Given the description of an element on the screen output the (x, y) to click on. 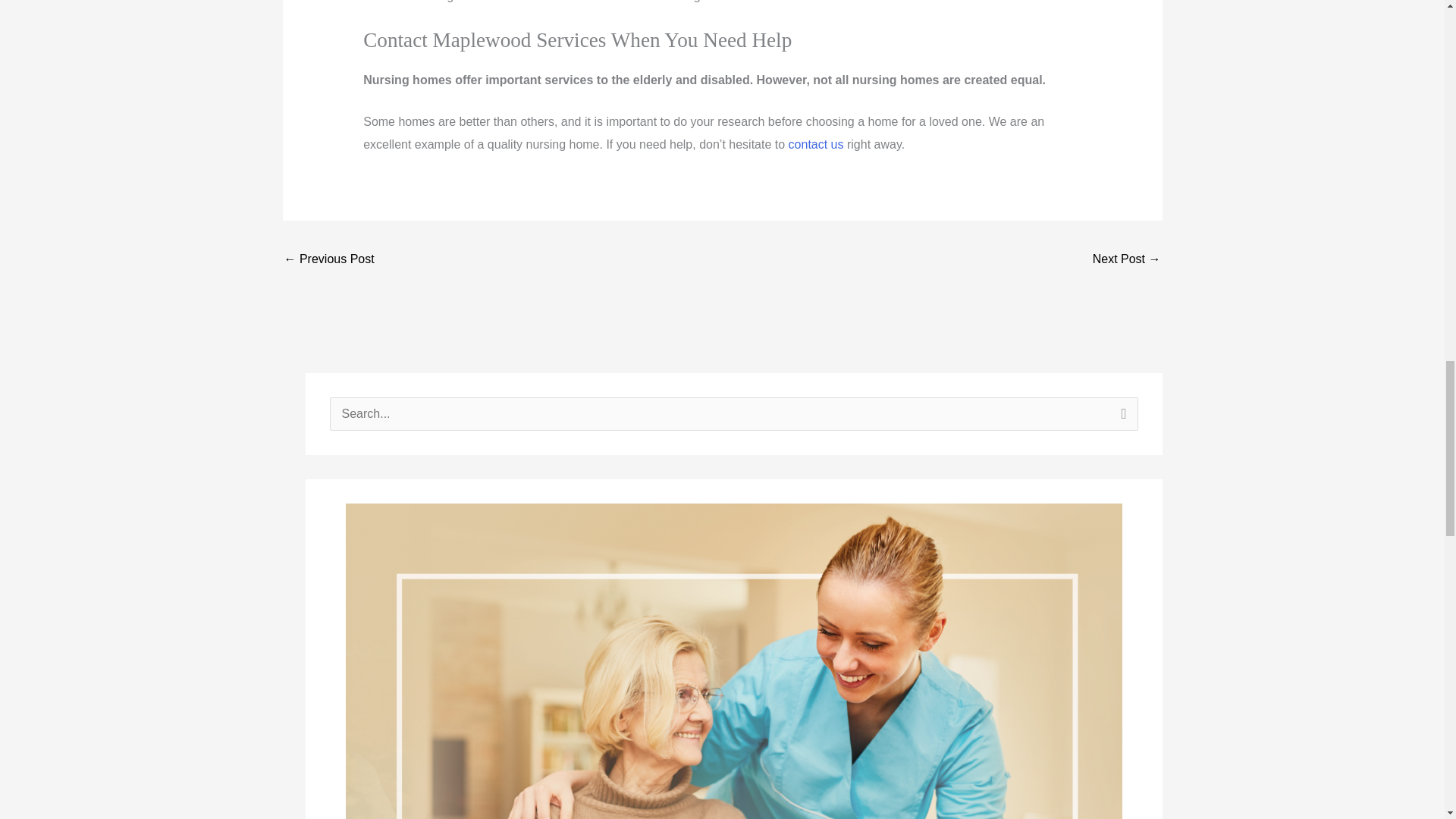
Nursing Home in Seabrook NH (328, 260)
contact us (816, 144)
Skilled Nursing in Salem NH (1126, 260)
